Given the description of an element on the screen output the (x, y) to click on. 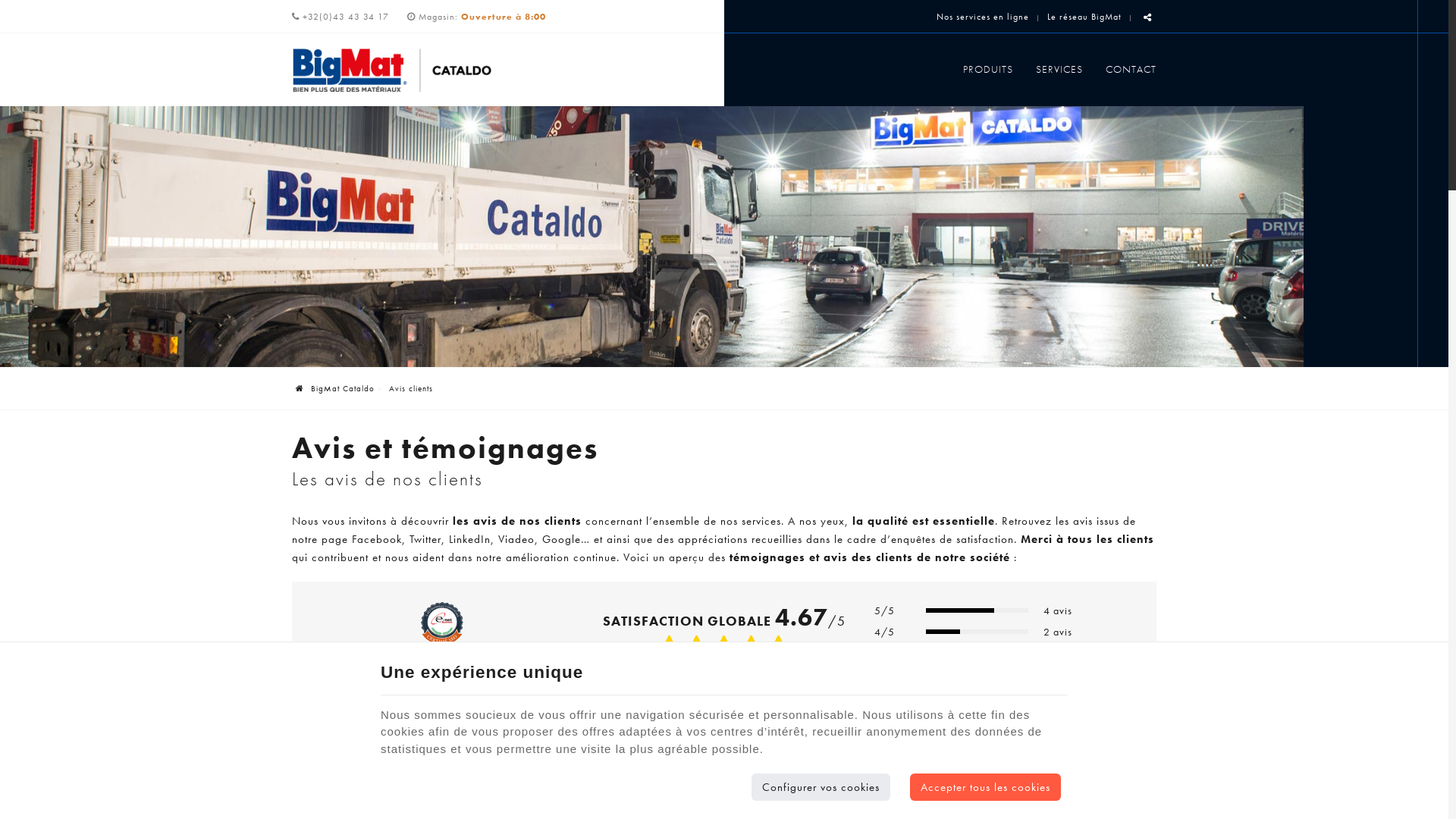
Pas du tout satisfait Element type: hover (668, 648)
Partager ce contenu Element type: text (1147, 17)
Recommandez-nous Element type: text (723, 784)
CONTACT Element type: text (1125, 68)
SERVICES Element type: text (1059, 68)
BigMat Cataldo Element type: text (334, 387)
PRODUITS Element type: text (987, 68)
Pas satisfait Element type: hover (696, 648)
Configurer vos cookies Element type: text (820, 786)
Satisfait Element type: hover (723, 648)
BigMat Cataldo Element type: hover (391, 69)
+32(0)43 43 34 17 Element type: text (340, 16)
Nos services en ligne Element type: text (982, 16)
Accepter tous les cookies Element type: text (985, 786)
